Given the description of an element on the screen output the (x, y) to click on. 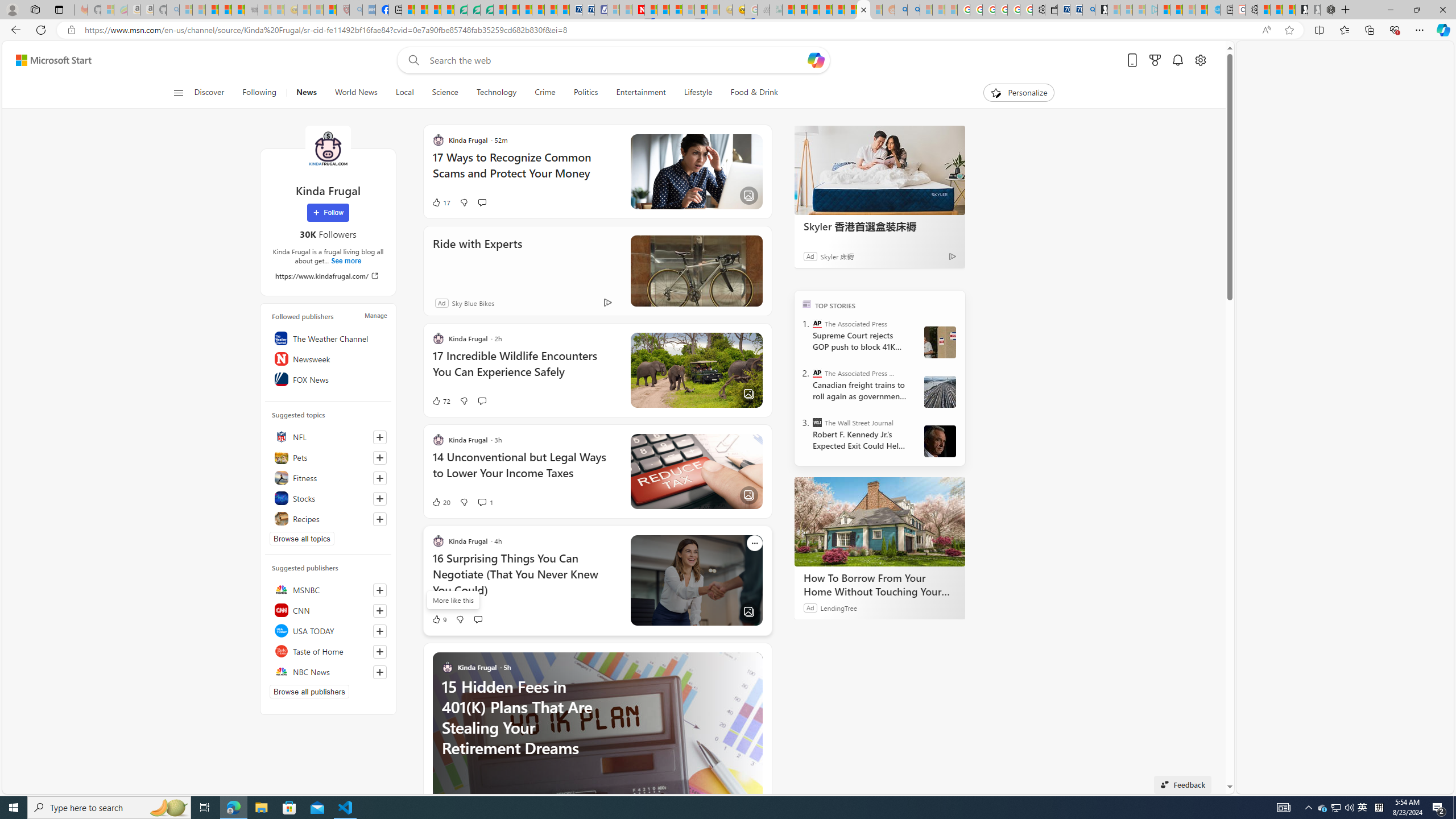
Play Free Online Games | Games from Microsoft Start (1301, 9)
Trusted Community Engagement and Contributions | Guidelines (650, 9)
9 Like (438, 619)
Follow this topic (379, 518)
Manage (375, 315)
Web search (411, 60)
World - MSN (434, 9)
Local - MSN (329, 9)
Address and search bar (669, 29)
